Given the description of an element on the screen output the (x, y) to click on. 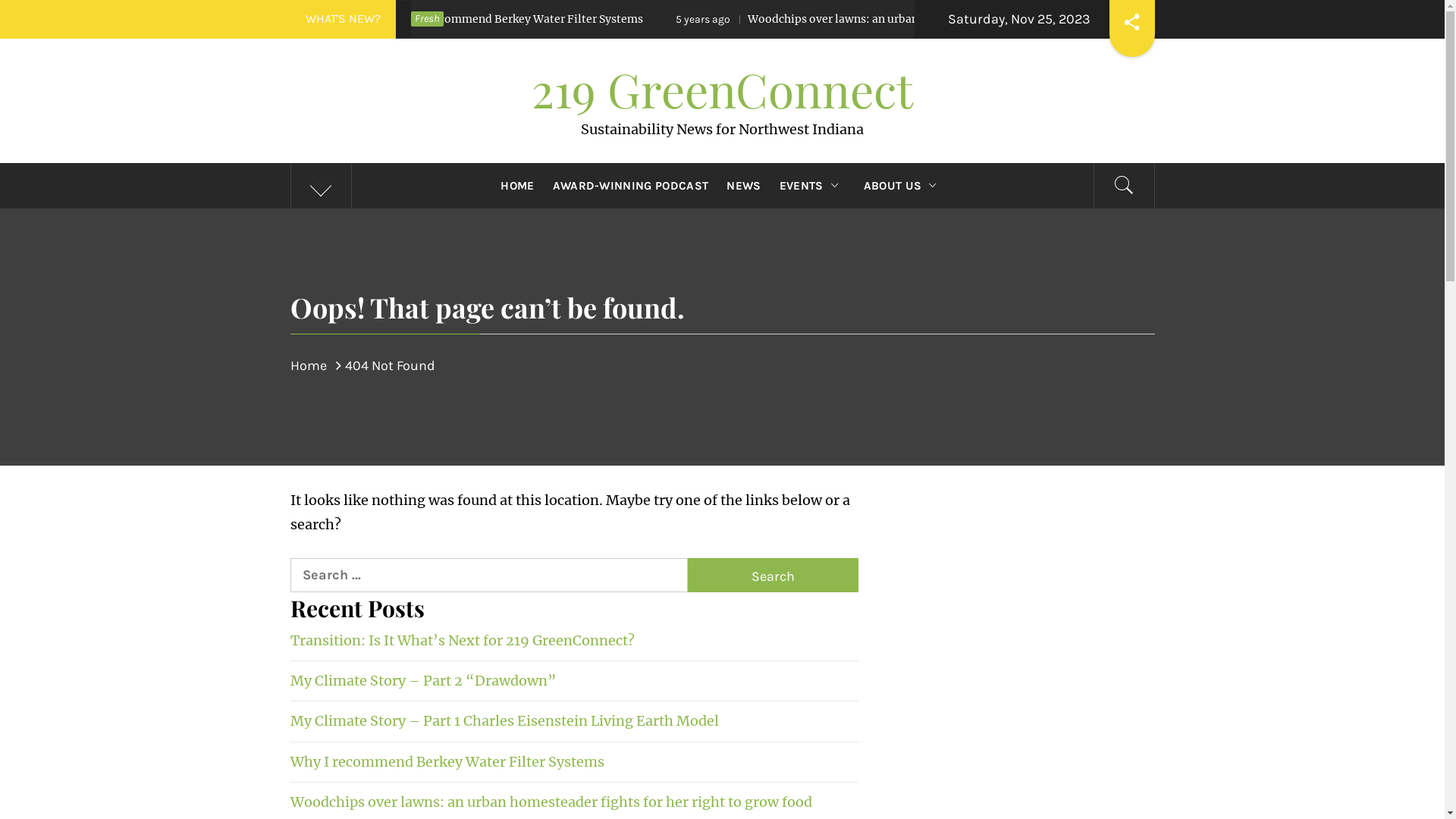
EVENTS Element type: text (812, 185)
Home Element type: text (312, 365)
Search Element type: text (797, 37)
AWARD-WINNING PODCAST Element type: text (630, 185)
Skip to content Element type: text (0, 0)
4 years ago Why I recommend Berkey Water Filter Systems Element type: text (585, 19)
NEWS Element type: text (743, 185)
Why I recommend Berkey Water Filter Systems Element type: text (446, 761)
HOME Element type: text (516, 185)
219 GreenConnect Element type: text (722, 88)
Search Element type: text (772, 575)
ABOUT US Element type: text (903, 185)
